Given the description of an element on the screen output the (x, y) to click on. 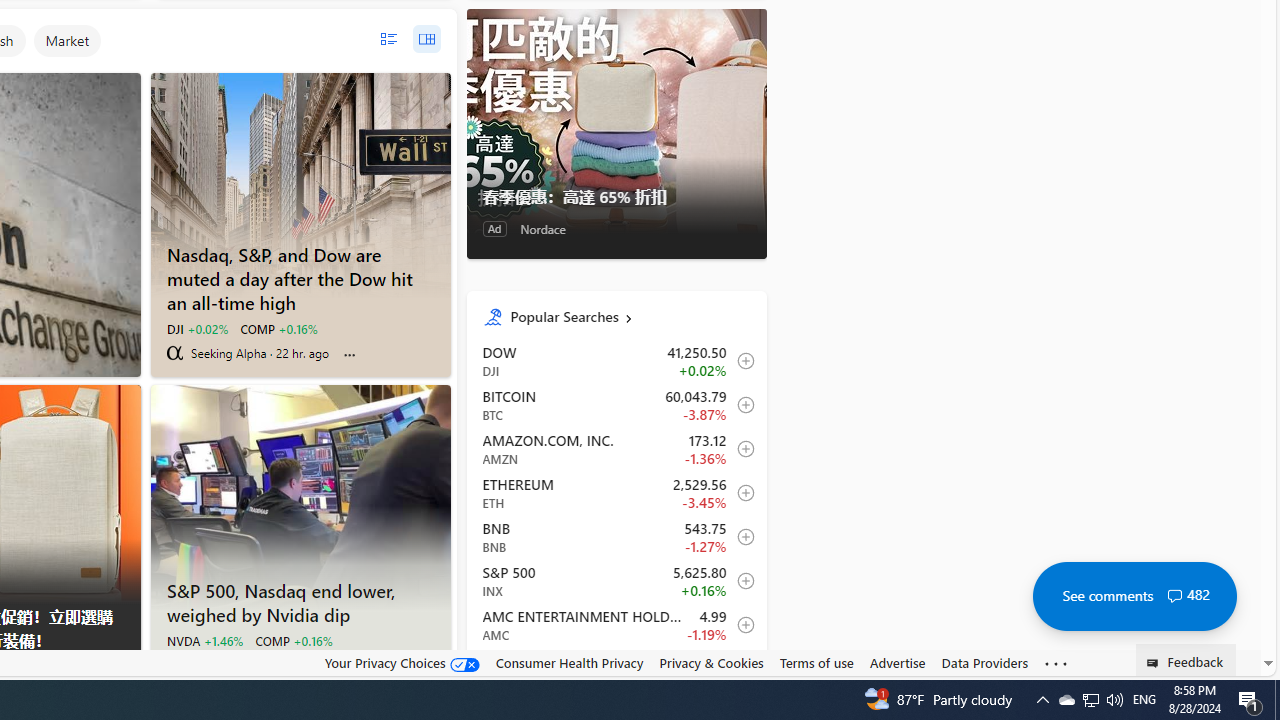
INX S&P 500 increase 5,625.80 +8.96 +0.16% itemundefined (615, 580)
Terms of use (816, 662)
Reuters (174, 664)
Popular Searches (630, 316)
AdChoices (123, 669)
ETH Ethereum decrease 2,529.56 -87.30 -3.45% itemundefined (615, 492)
Your Privacy Choices (401, 663)
Data Providers (983, 662)
Privacy & Cookies (711, 662)
Advertise (897, 663)
Privacy & Cookies (711, 663)
Class: feedback_link_icon-DS-EntryPoint1-1 (1156, 663)
NVDA +1.46% (204, 640)
